Given the description of an element on the screen output the (x, y) to click on. 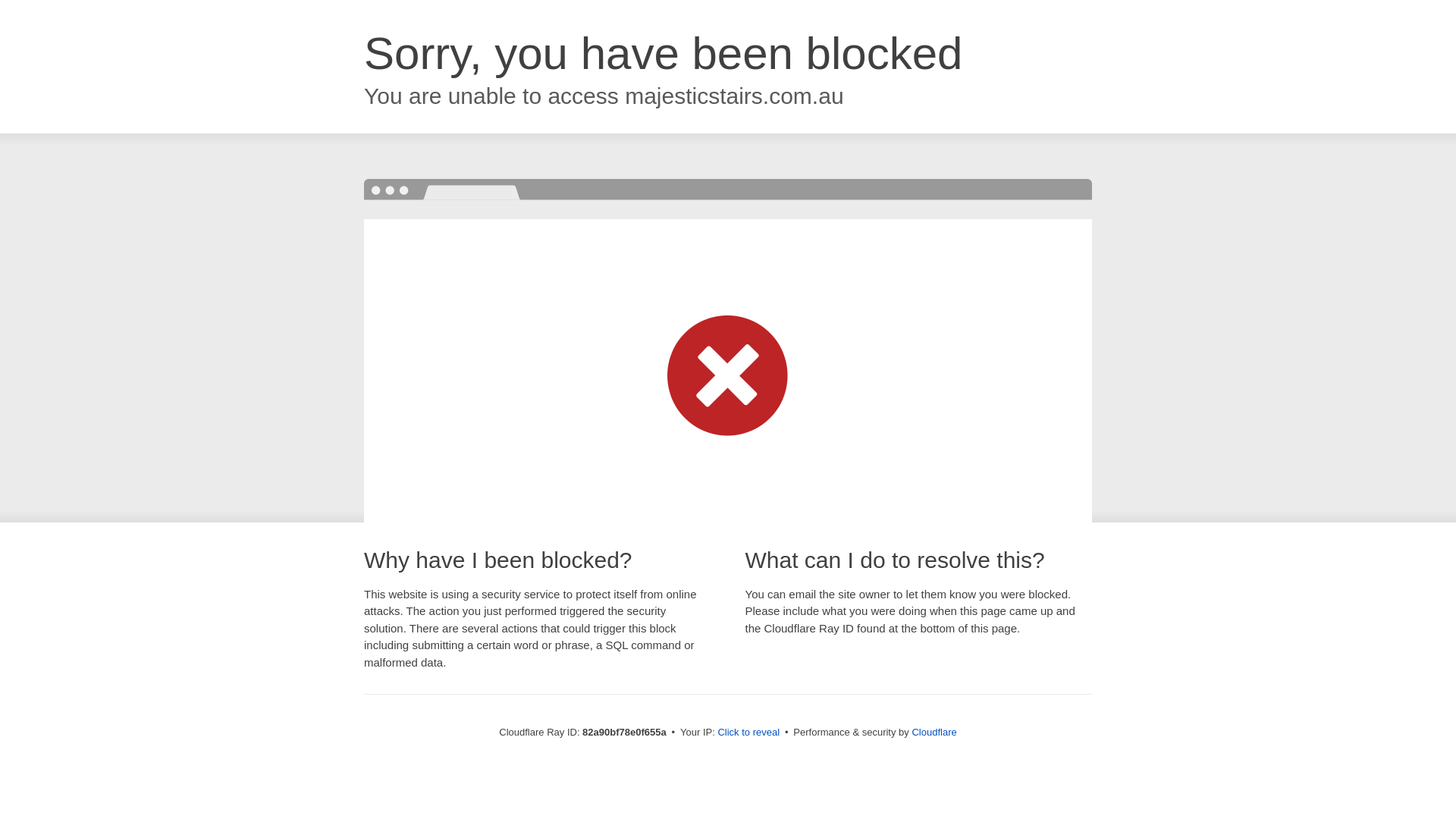
Cloudflare Element type: text (933, 731)
Click to reveal Element type: text (748, 732)
